Given the description of an element on the screen output the (x, y) to click on. 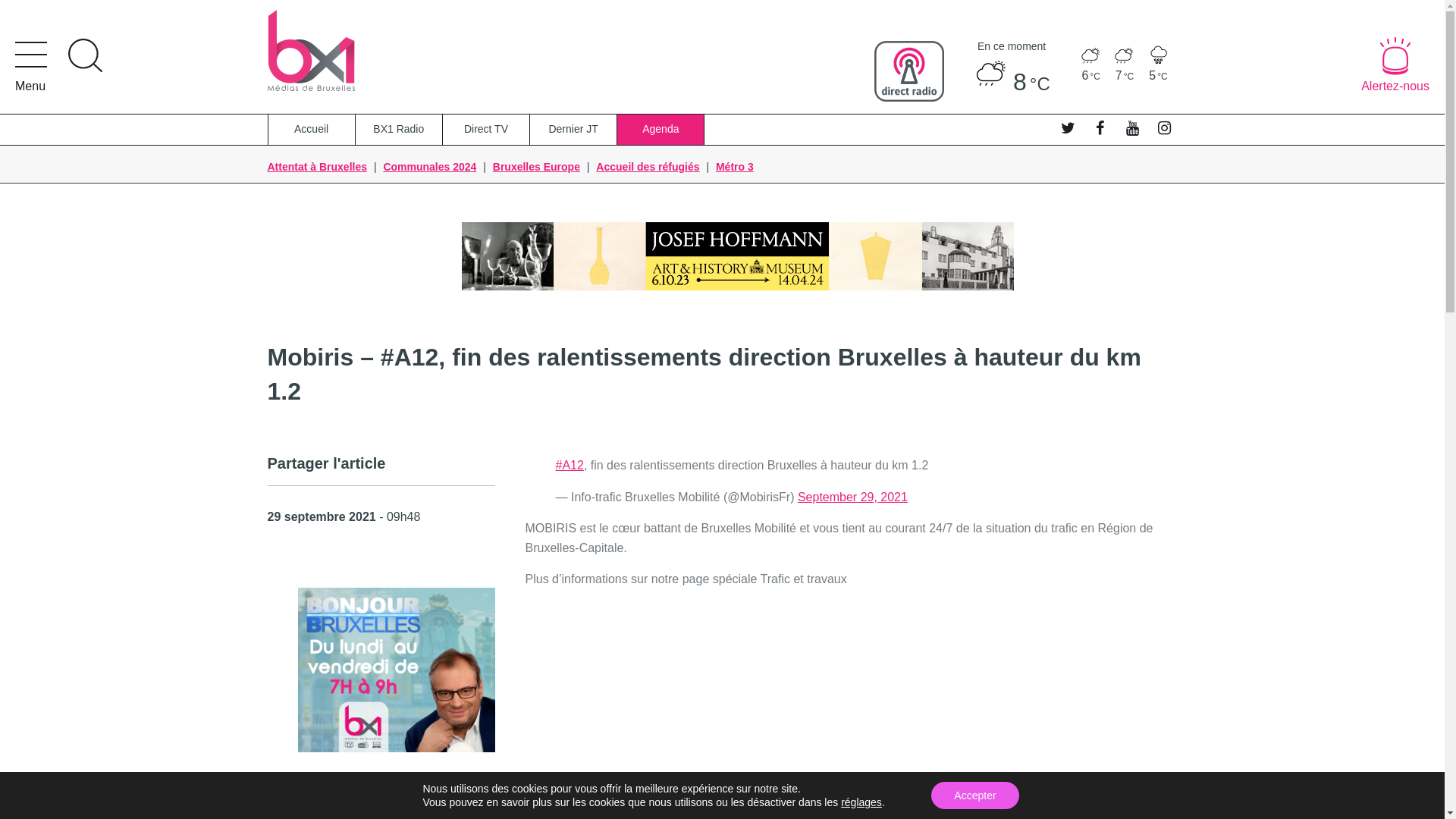
Accueil Element type: text (311, 129)
Passer la navigation Element type: text (353, 14)
Facebook Element type: text (1098, 127)
BX1 Radio Element type: text (398, 129)
Agenda Element type: text (660, 129)
September 29, 2021 Element type: text (852, 496)
Recherche Element type: text (85, 55)
Twitter Element type: text (1066, 127)
Youtube Element type: text (1130, 127)
Instagram Element type: text (1163, 127)
Dernier JT Element type: text (573, 129)
Communales 2024 Element type: text (429, 166)
Alertez-nous Element type: text (1395, 65)
Accepter Element type: text (974, 795)
Menu Element type: text (31, 67)
Bruxelles Europe Element type: text (536, 166)
Direct TV Element type: text (486, 129)
#A12 Element type: text (569, 464)
